Given the description of an element on the screen output the (x, y) to click on. 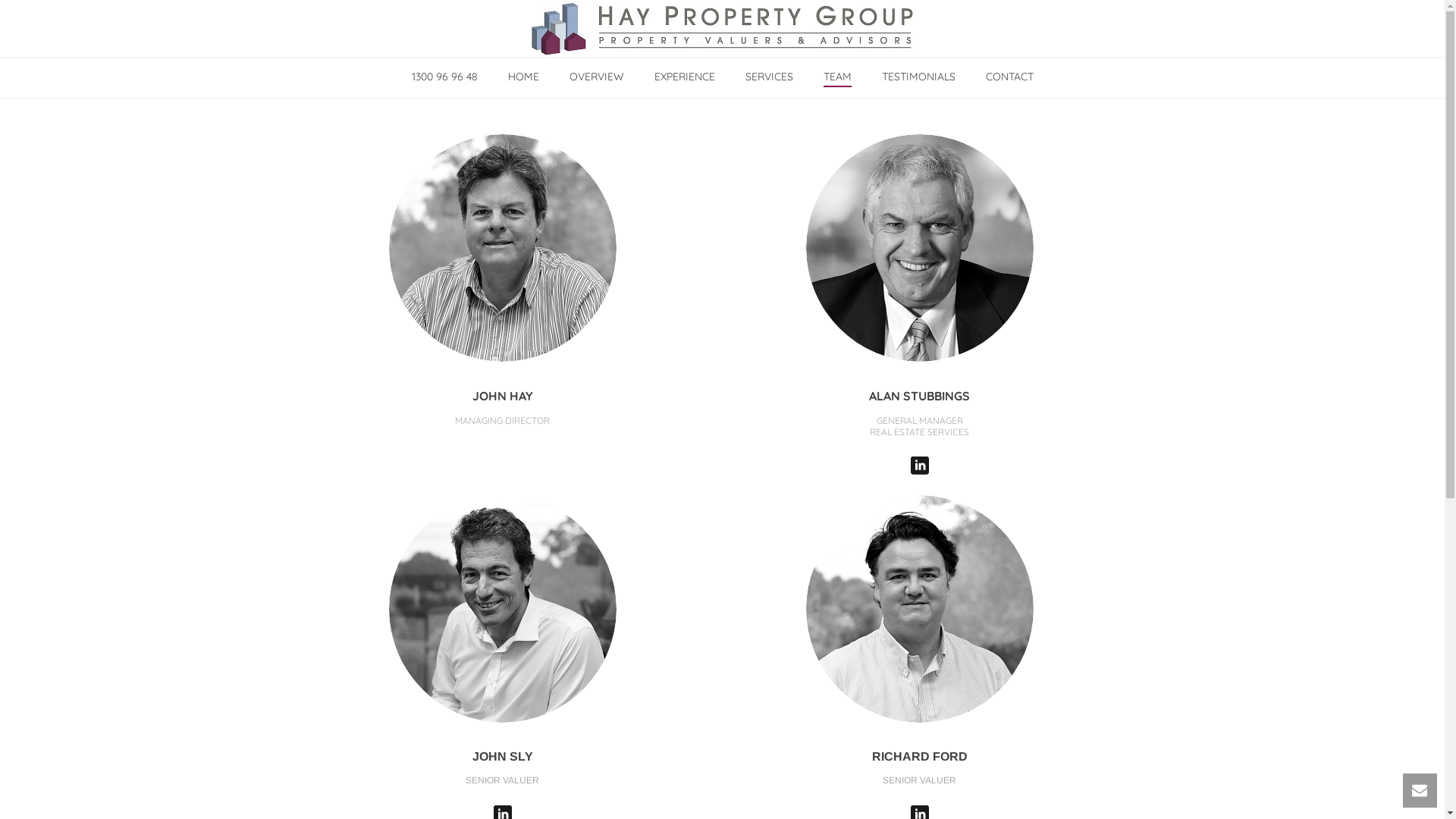
TESTIMONIALS Element type: text (917, 77)
ALAN STUBBINGS Element type: text (919, 395)
HOME Element type: text (523, 77)
OVERVIEW Element type: text (595, 77)
Hay Property Group Element type: hover (721, 27)
JOHN SLY Element type: text (501, 755)
TEAM Element type: text (837, 77)
SERVICES Element type: text (768, 77)
RICHARD FORD Element type: text (919, 755)
1300 96 96 48 Element type: text (443, 77)
CONTACT Element type: text (1009, 77)
JOHN HAY Element type: text (501, 395)
Hay Property Group Element type: hover (721, 28)
EXPERIENCE Element type: text (683, 77)
